Given the description of an element on the screen output the (x, y) to click on. 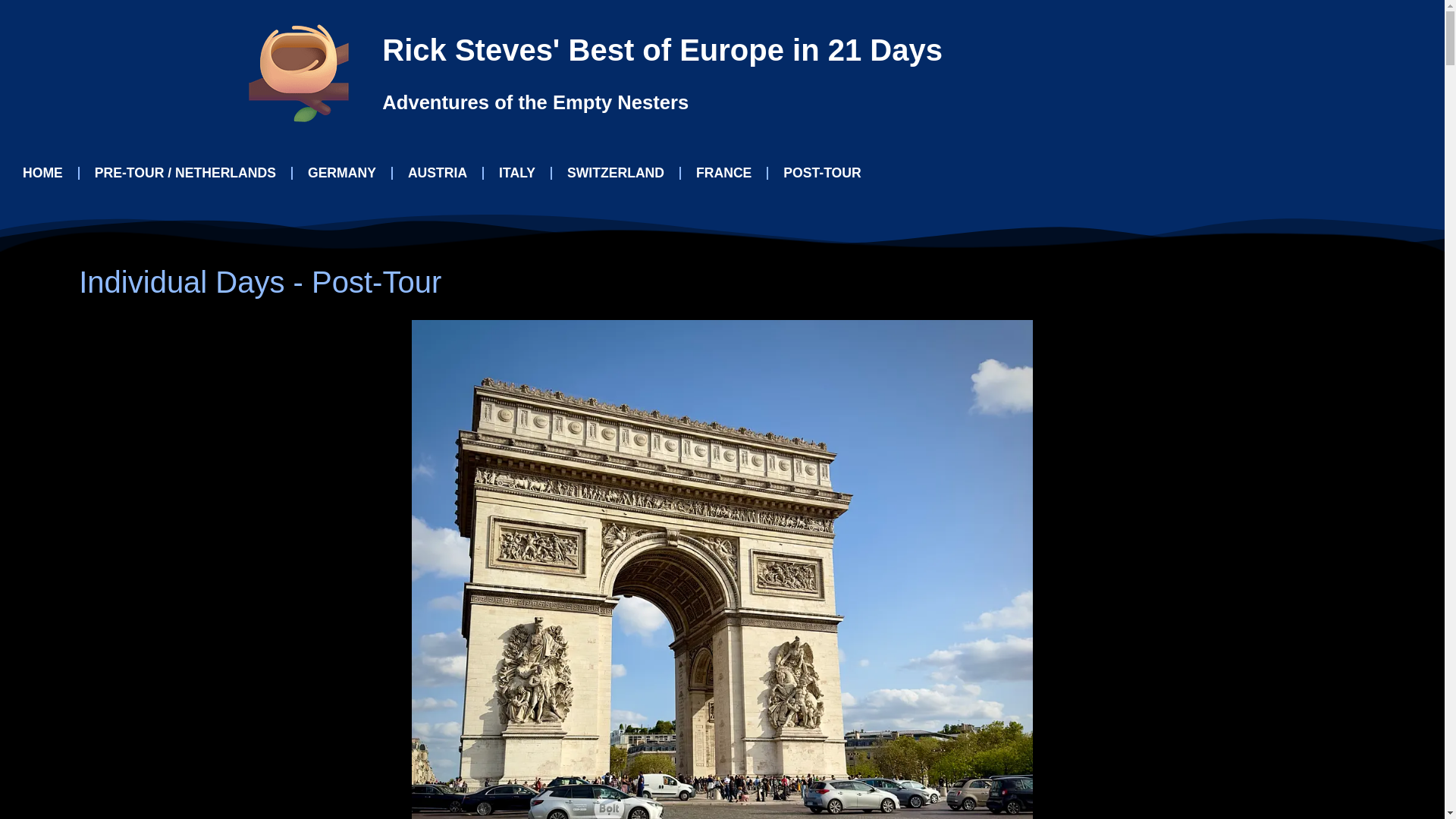
HOME (42, 172)
ITALY (516, 172)
SWITZERLAND (615, 172)
FRANCE (724, 172)
Rick Steves' Best of Europe in 21 Days (661, 49)
Adventures of the Empty Nesters (534, 102)
AUSTRIA (437, 172)
POST-TOUR (822, 172)
GERMANY (341, 172)
